Given the description of an element on the screen output the (x, y) to click on. 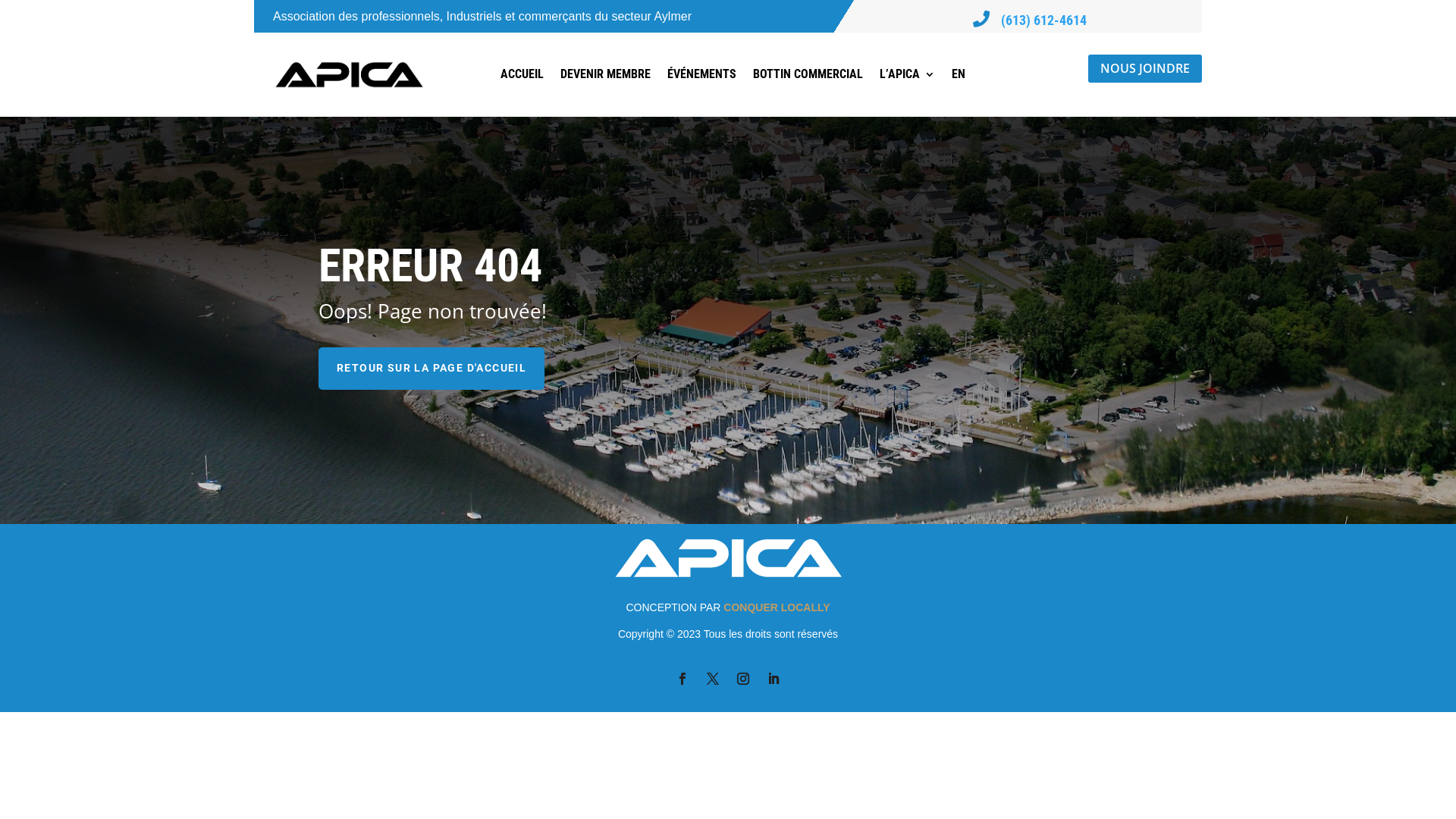
LogoAPICA_BLANC@2x Element type: hover (727, 558)
Follow on Instagram Element type: hover (743, 678)
Follow on LinkedIn Element type: hover (773, 678)
RETOUR SUR LA PAGE D'ACCUEIL Element type: text (431, 368)
EN Element type: text (957, 74)
DEVENIR MEMBRE Element type: text (604, 74)
Follow on Facebook Element type: hover (682, 678)
Follow on X Element type: hover (712, 678)
BOTTIN COMMERCIAL Element type: text (807, 74)
CONQUER LOCALLY Element type: text (776, 607)
(613) 612-4614 Element type: text (1043, 20)
NOUS JOINDRE Element type: text (1144, 68)
ACCUEIL Element type: text (521, 74)
